Given the description of an element on the screen output the (x, y) to click on. 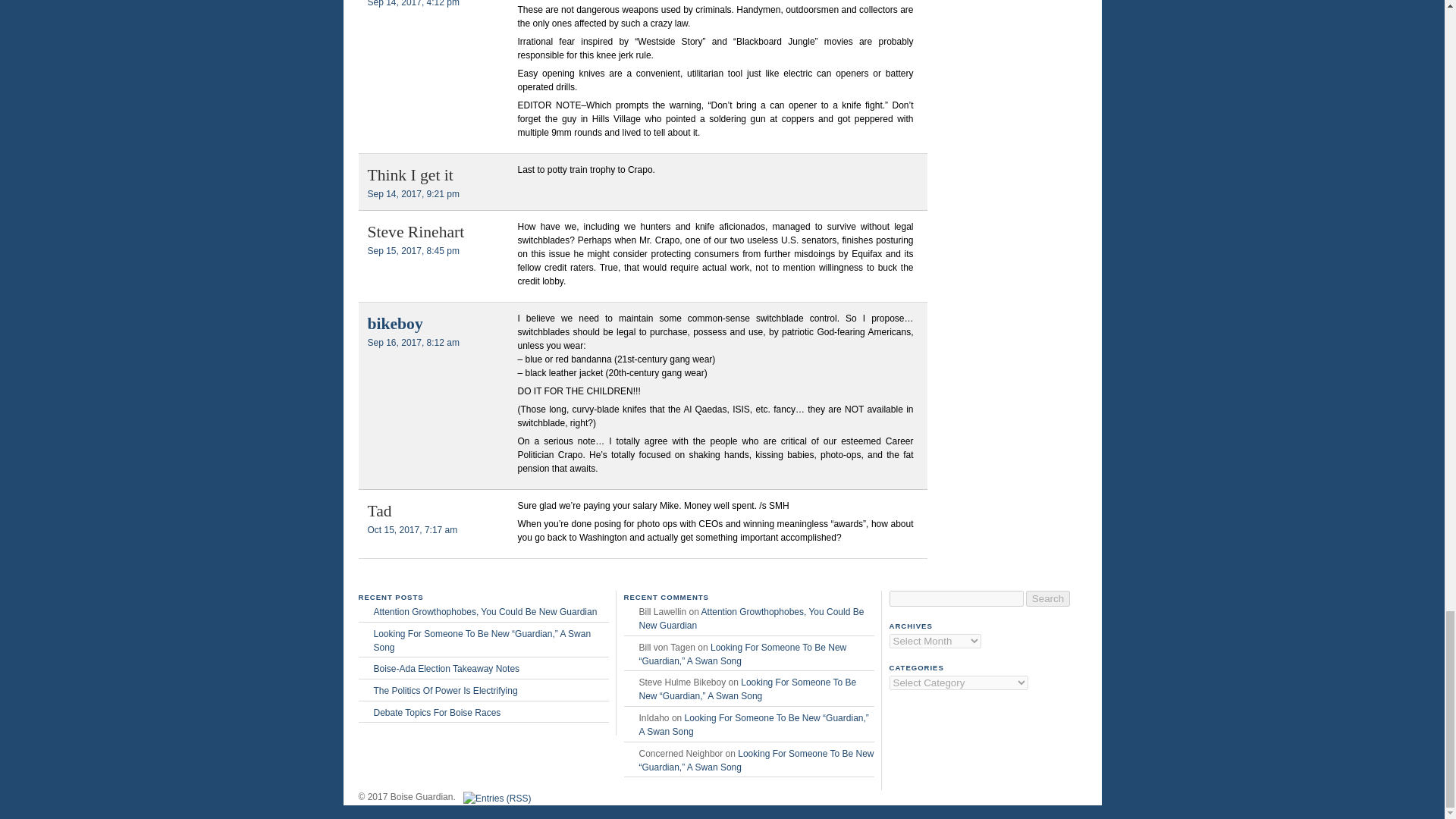
bikeboy (394, 323)
Oct 15, 2017, 7:17 am (411, 529)
Sep 15, 2017, 8:45 pm (412, 250)
Sep 14, 2017, 4:12 pm (412, 3)
Sep 14, 2017, 9:21 pm (412, 194)
Sep 16, 2017, 8:12 am (412, 342)
Search (1048, 598)
